Given the description of an element on the screen output the (x, y) to click on. 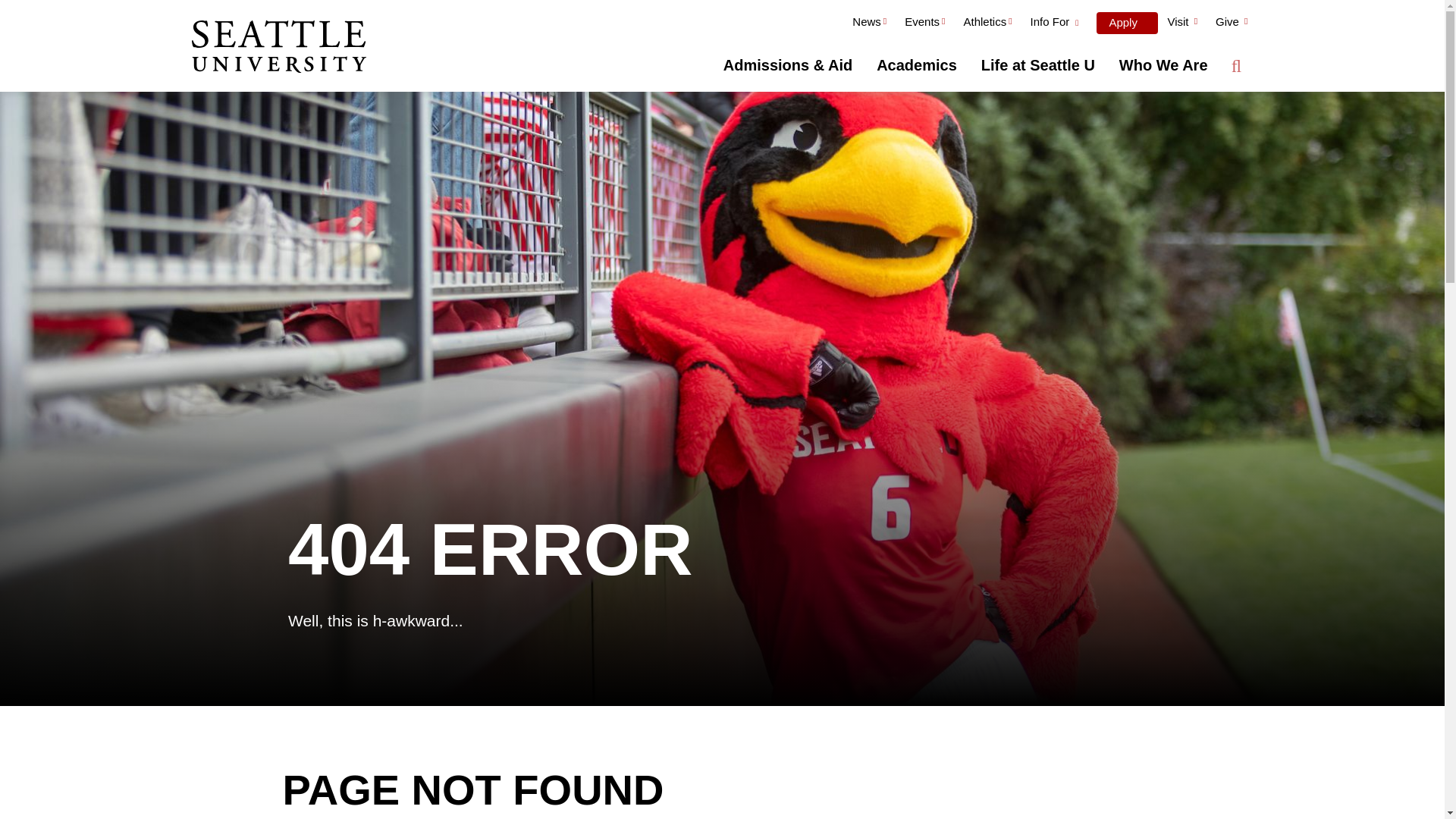
Visit (1182, 23)
News (869, 23)
Athletics (986, 23)
Click to visit the home page (277, 47)
Academics (916, 65)
Events (924, 23)
Life at Seattle U (1037, 65)
Give (1231, 23)
Apply (1126, 23)
